Given the description of an element on the screen output the (x, y) to click on. 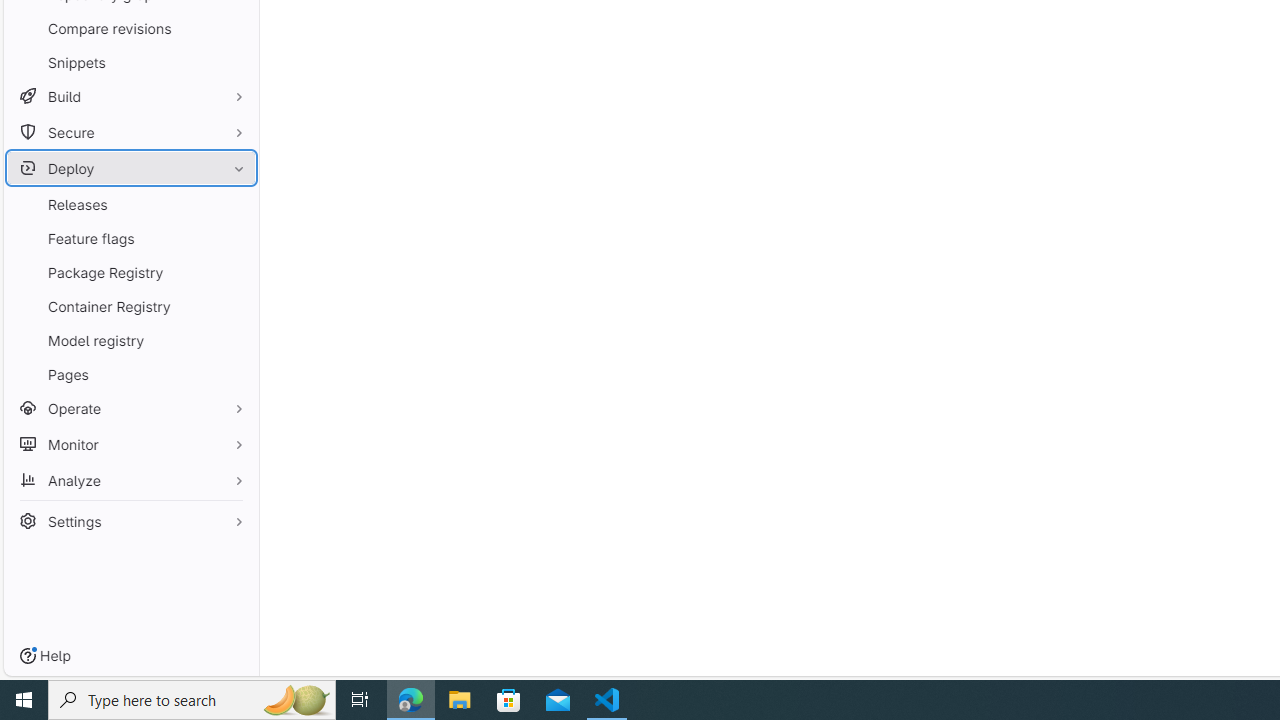
Feature flags (130, 237)
Deploy (130, 168)
Monitor (130, 443)
Pin Container Registry (234, 305)
Feature flags (130, 237)
Releases (130, 204)
Compare revisions (130, 28)
Help (45, 655)
Model registry (130, 340)
Monitor (130, 443)
Pages (130, 373)
Pin Model registry (234, 340)
Build (130, 96)
Pin Snippets (234, 61)
